Given the description of an element on the screen output the (x, y) to click on. 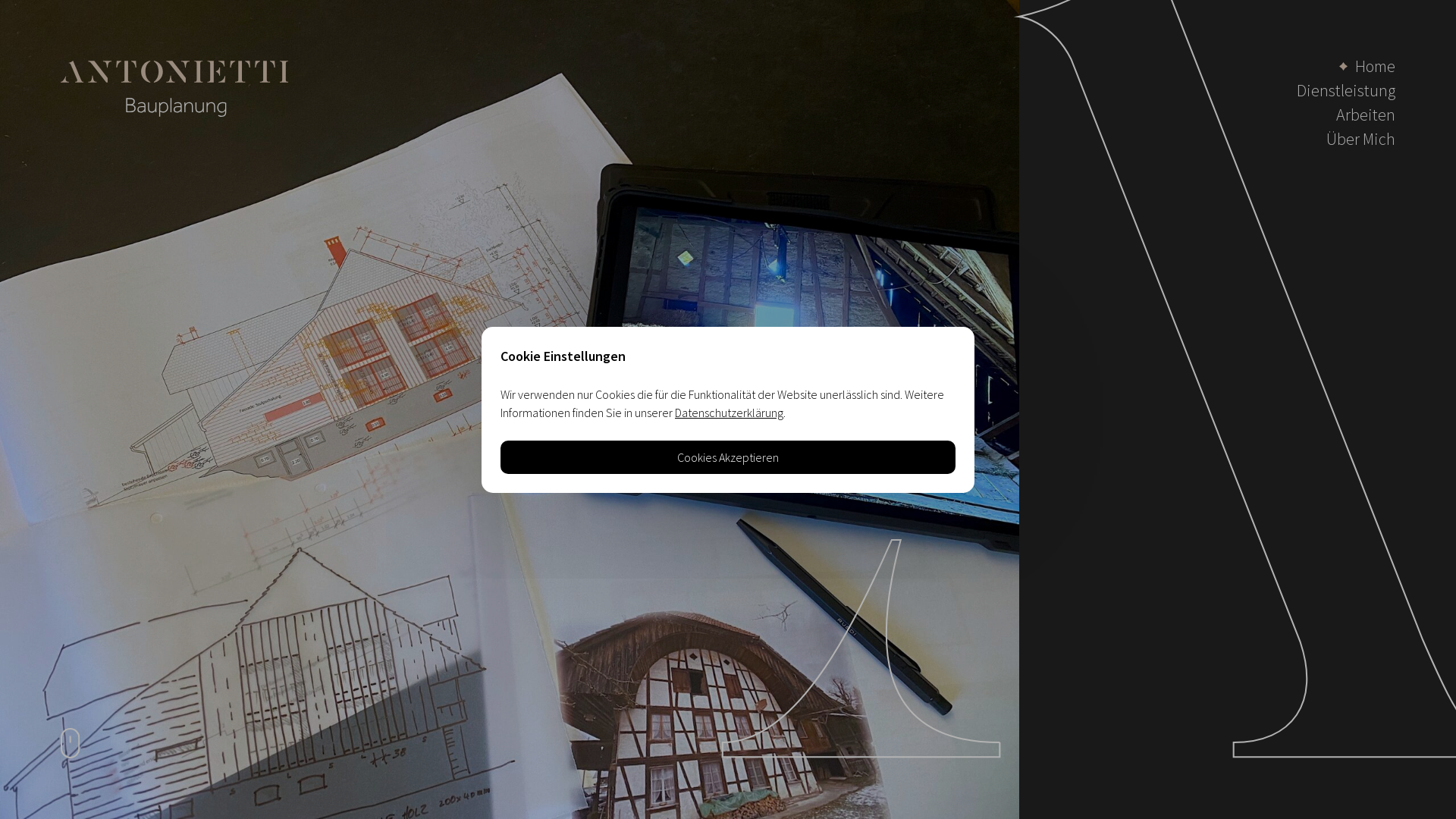
Home Element type: text (1367, 65)
Cookies Akzeptieren Element type: text (727, 456)
Dienstleistung Element type: text (1345, 89)
Arbeiten Element type: text (1365, 114)
